Given the description of an element on the screen output the (x, y) to click on. 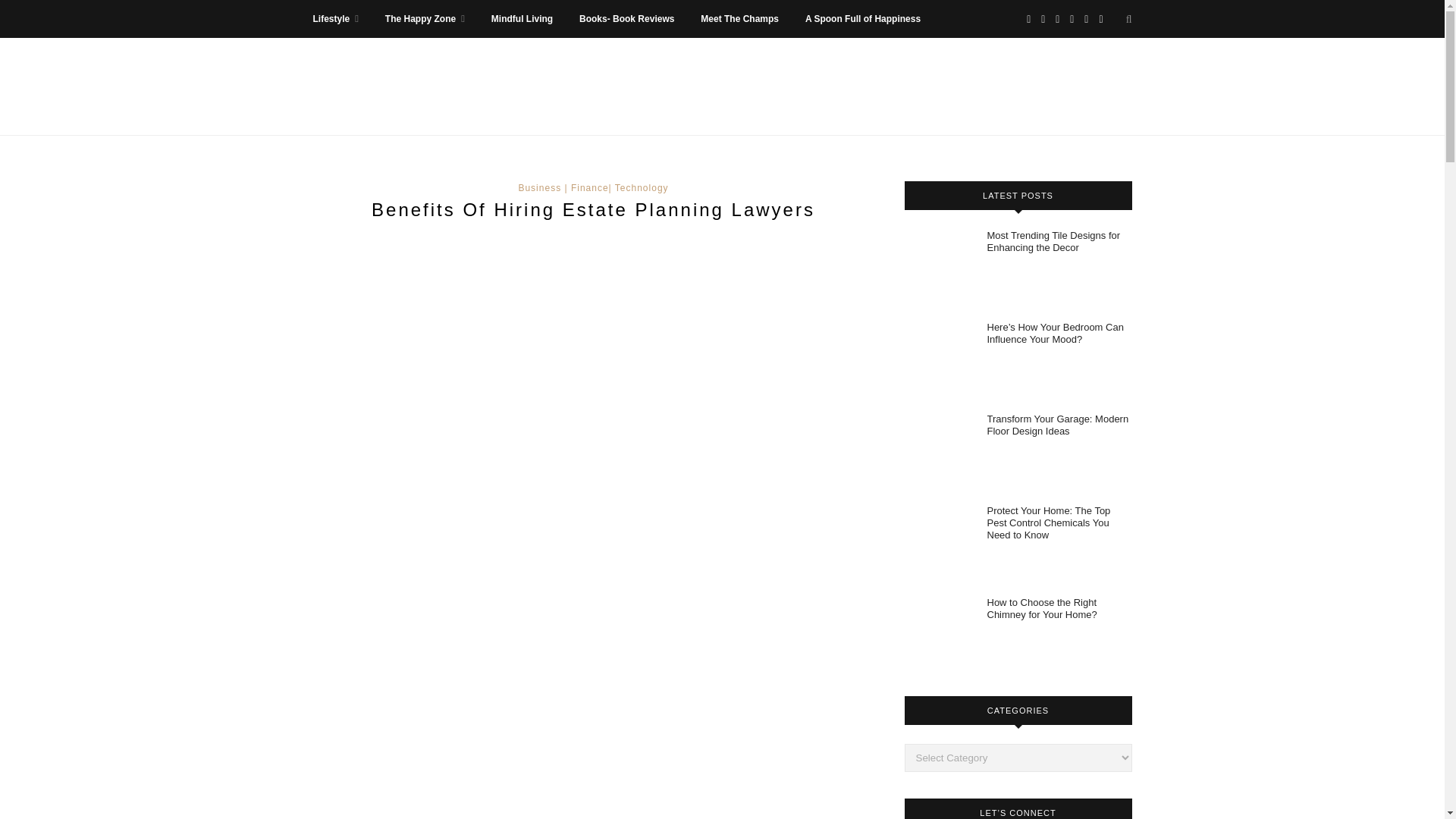
Books- Book Reviews (626, 18)
The Happy Zone (424, 18)
A Spoon Full of Happiness (862, 18)
Meet The Champs (739, 18)
Mindful Living (522, 18)
Lifestyle (335, 18)
